Given the description of an element on the screen output the (x, y) to click on. 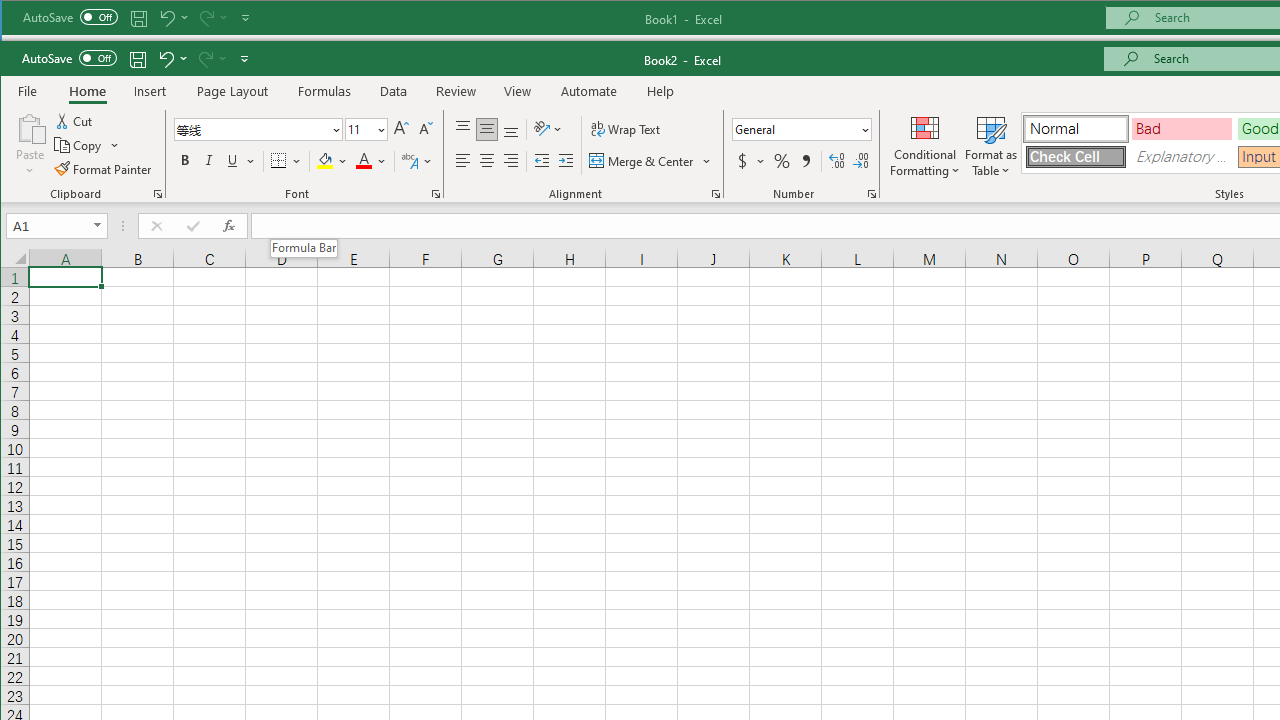
Paste (29, 145)
File Tab (28, 90)
Increase Font Size (401, 129)
Percent Style (781, 160)
Automate (589, 91)
Conditional Formatting (925, 145)
Center (486, 160)
Data (394, 91)
Decrease Indent (541, 160)
Number Format (801, 129)
Explanatory Text (1181, 157)
Font Size (359, 129)
Copy (87, 144)
